Given the description of an element on the screen output the (x, y) to click on. 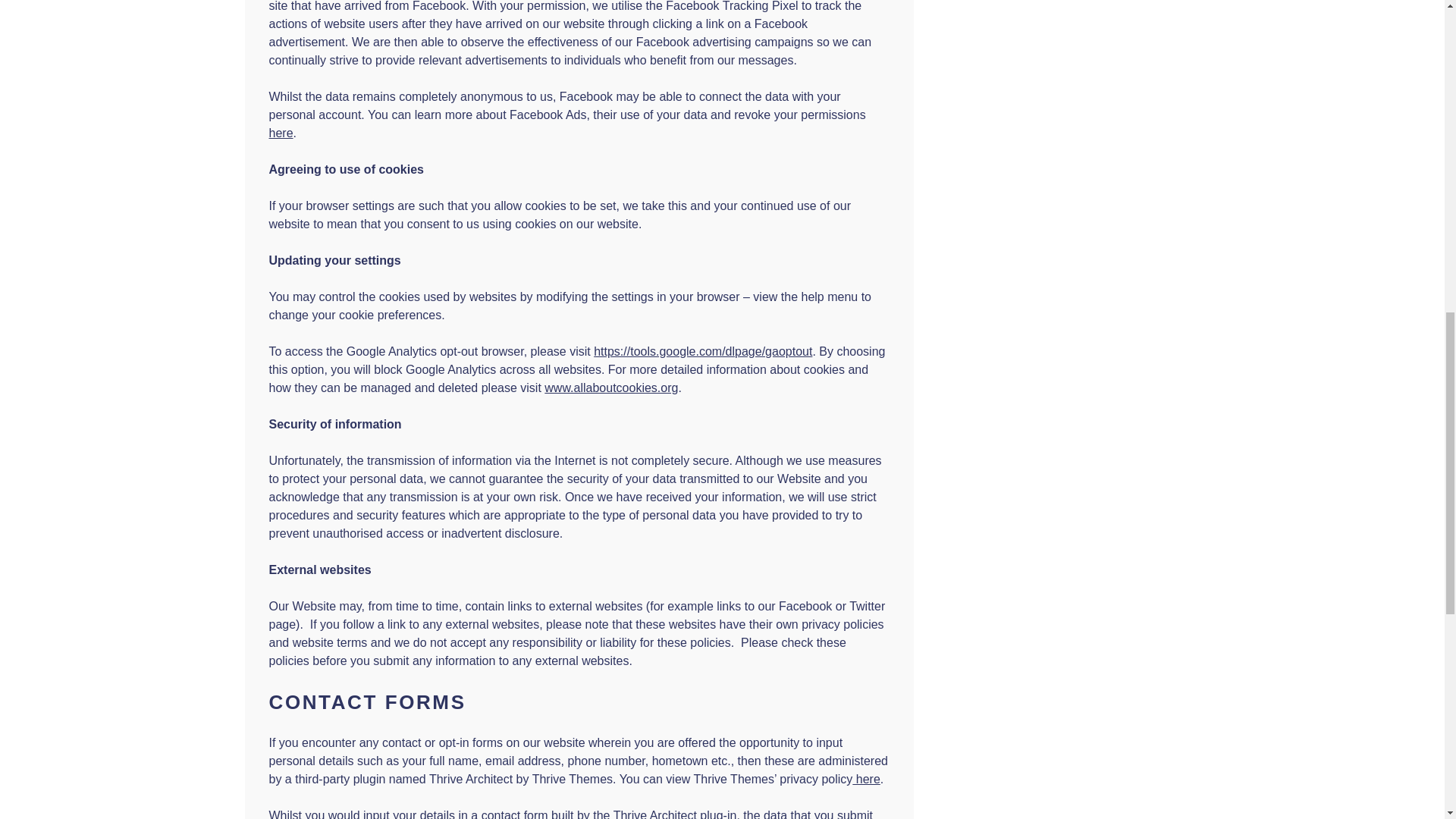
here (279, 132)
www.allaboutcookies.org (611, 387)
here (865, 779)
